Given the description of an element on the screen output the (x, y) to click on. 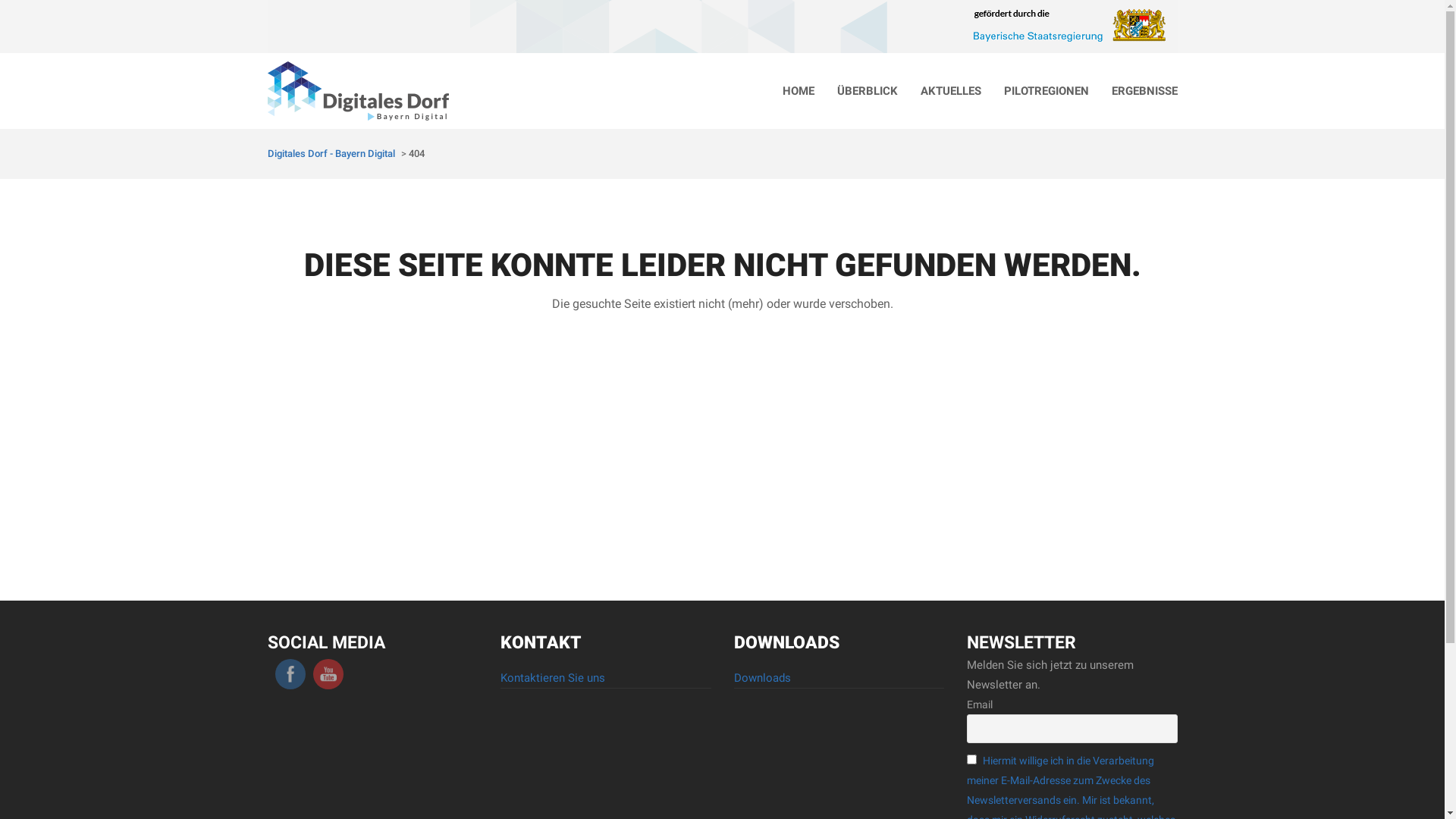
AKTUELLES Element type: text (949, 90)
Downloads Element type: text (762, 677)
PILOTREGIONEN Element type: text (1045, 90)
YouTube Element type: hover (328, 673)
Kontaktieren Sie uns Element type: text (552, 677)
Facebook Element type: hover (290, 673)
ERGEBNISSE Element type: text (1143, 90)
HOME Element type: text (797, 90)
Digitales Dorf - Bayern Digital Element type: text (330, 153)
